Given the description of an element on the screen output the (x, y) to click on. 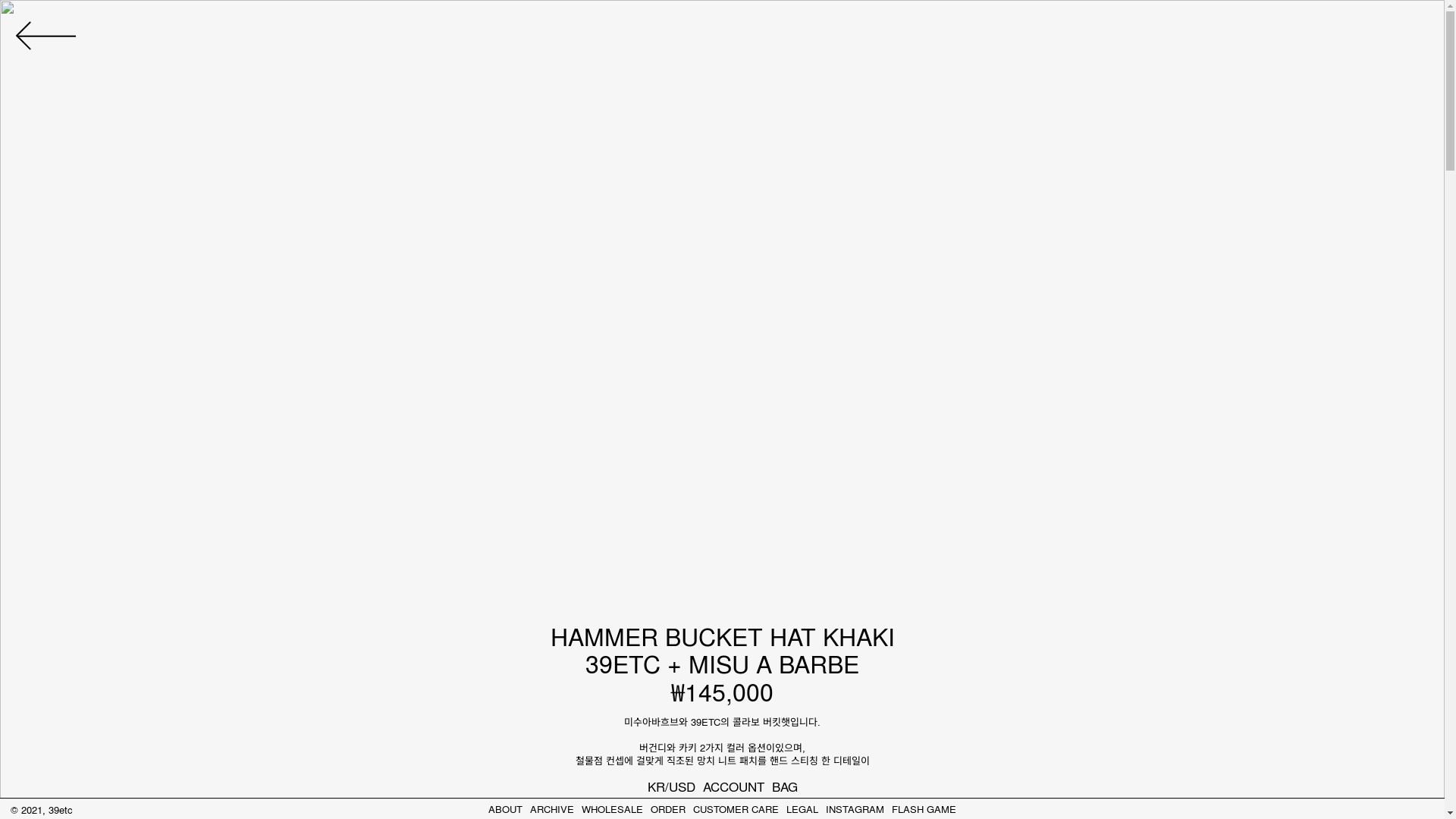
ACCOUNT Element type: text (732, 785)
BAG Element type: text (784, 785)
CUSTOMER CARE Element type: text (735, 808)
ARCHIVE Element type: text (552, 808)
LEGAL Element type: text (802, 808)
KR/USD Element type: text (671, 785)
ORDER Element type: text (667, 808)
INSTAGRAM Element type: text (854, 808)
ABOUT Element type: text (505, 808)
FLASH GAME Element type: text (923, 808)
WHOLESALE Element type: text (612, 808)
